Given the description of an element on the screen output the (x, y) to click on. 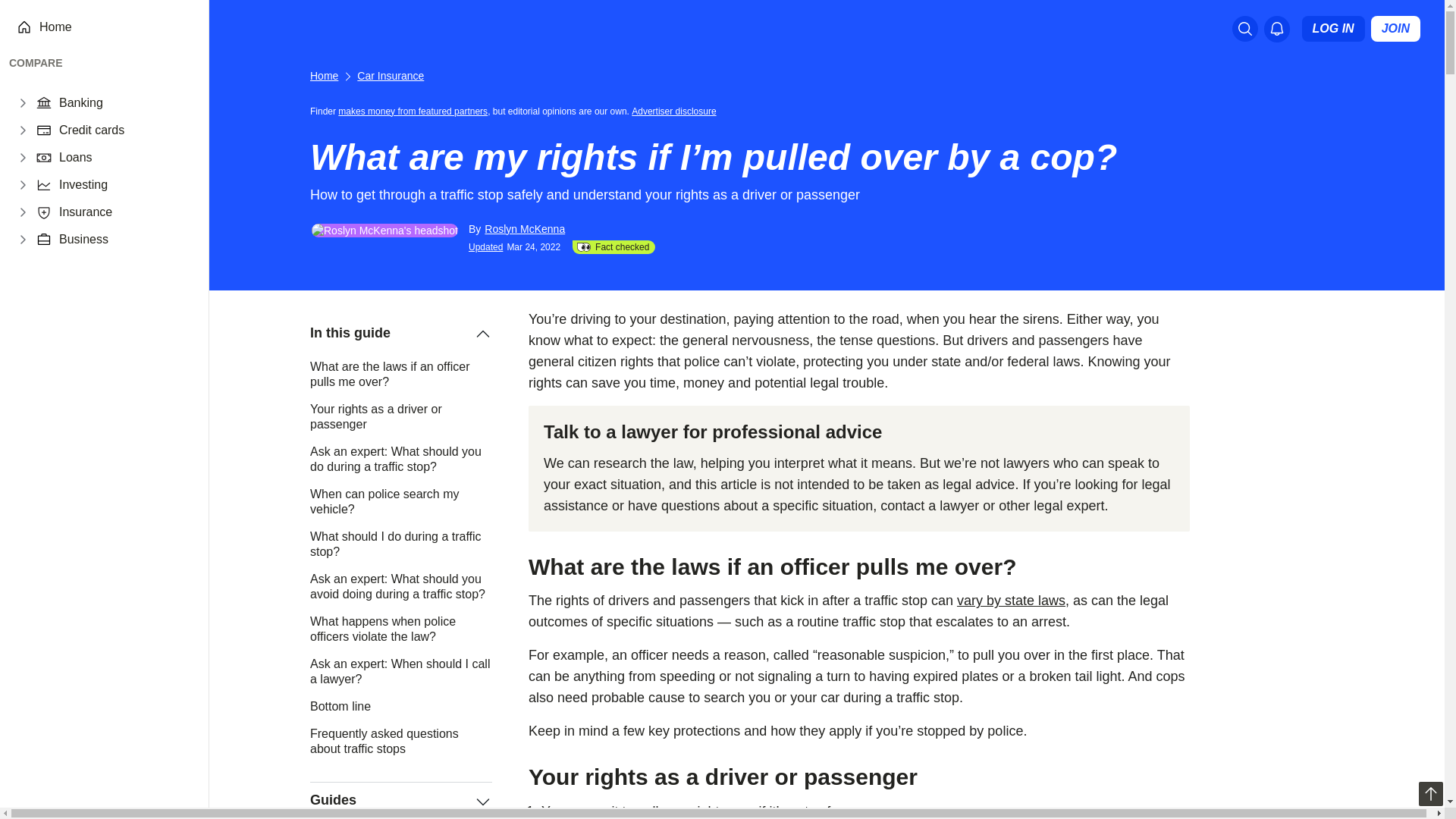
Back to Top (1430, 793)
Credit cards (91, 130)
Home (55, 27)
Banking (81, 103)
Loans (76, 157)
